Given the description of an element on the screen output the (x, y) to click on. 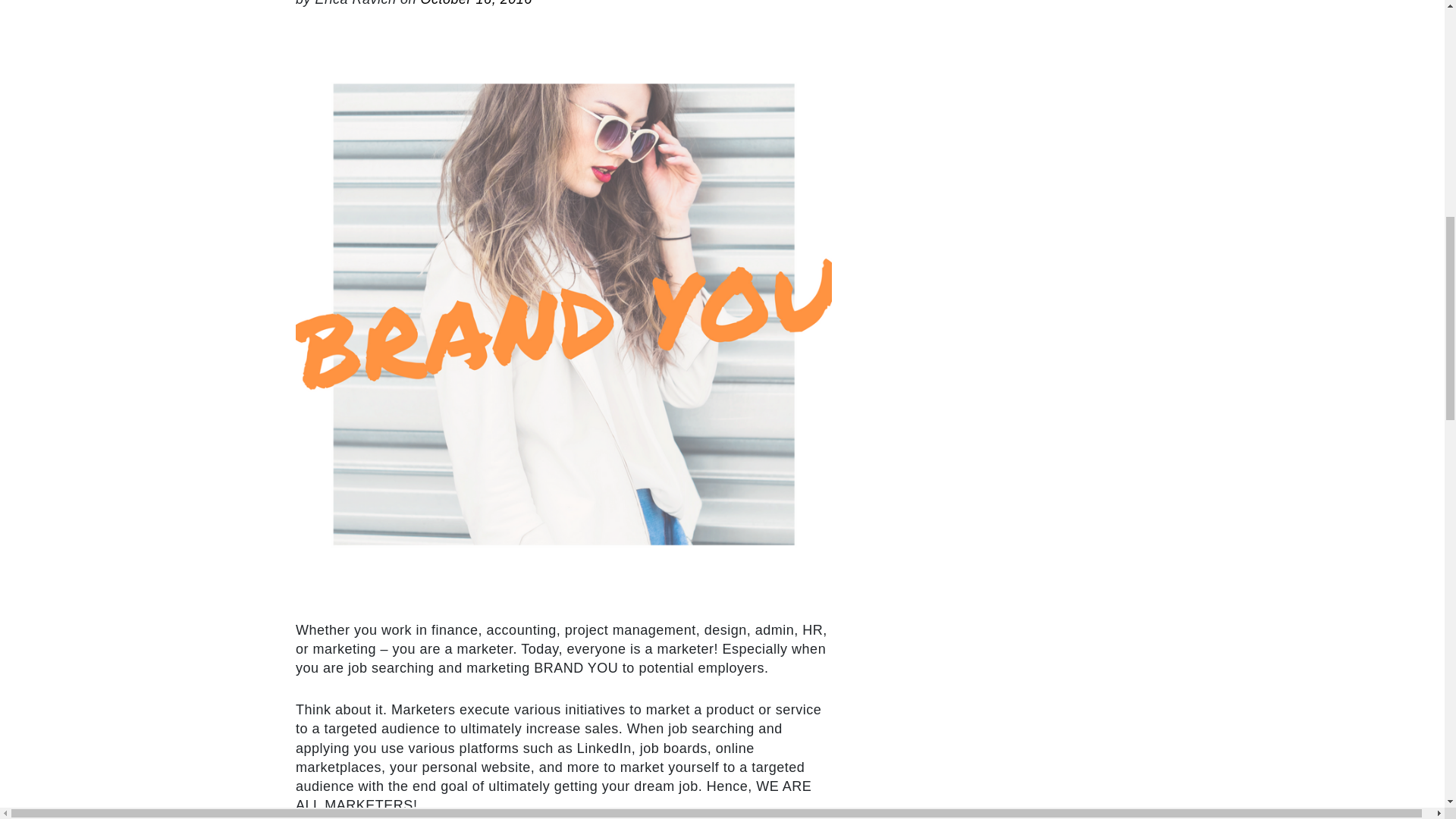
October 16, 2016 (476, 3)
